Given the description of an element on the screen output the (x, y) to click on. 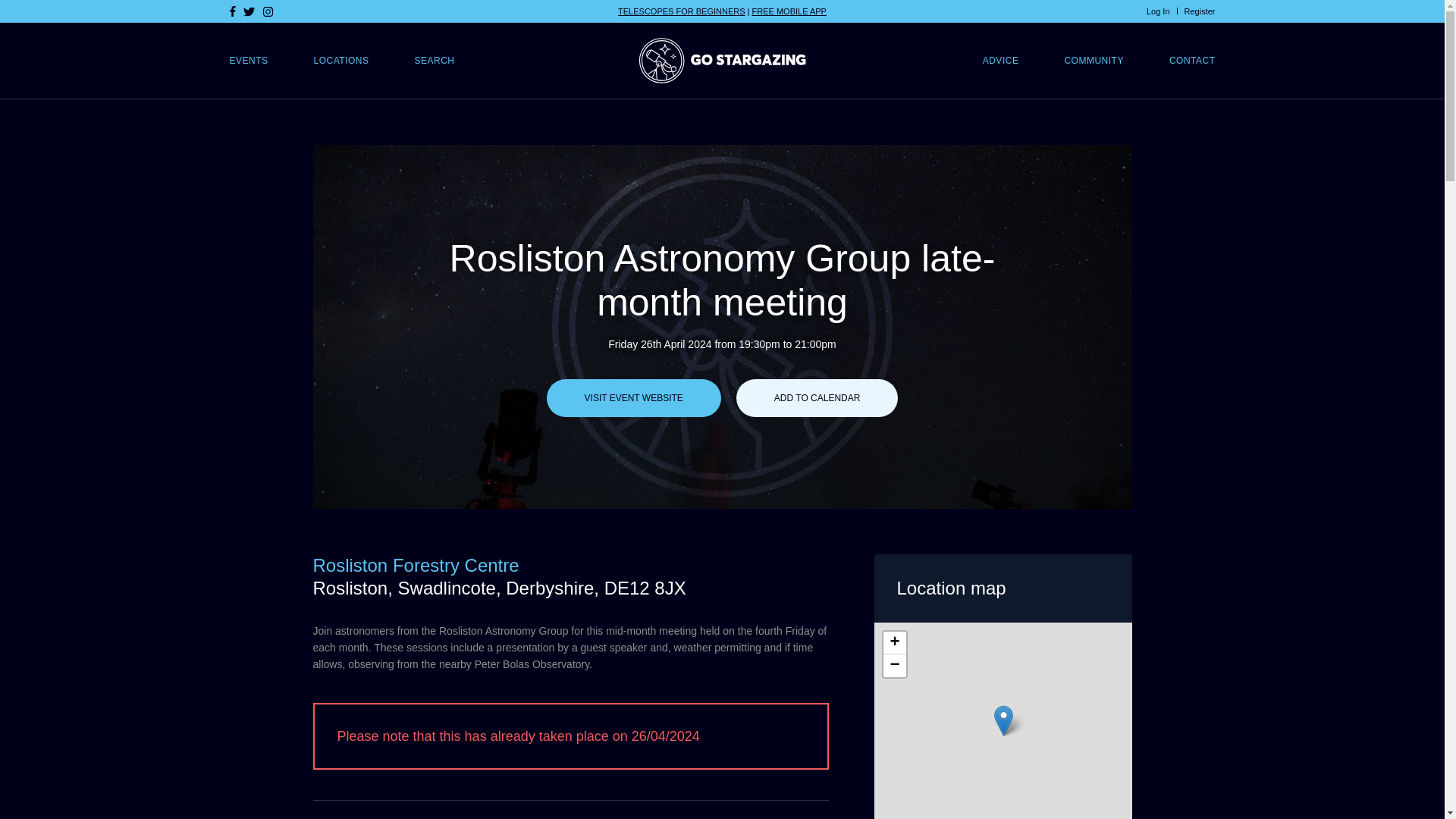
TELESCOPES FOR BEGINNERS (680, 11)
Instagram (267, 10)
Twitter (248, 10)
Zoom out (893, 665)
FREE MOBILE APP (789, 11)
Log In (1158, 10)
Register (1200, 10)
Zoom in (893, 642)
